Given the description of an element on the screen output the (x, y) to click on. 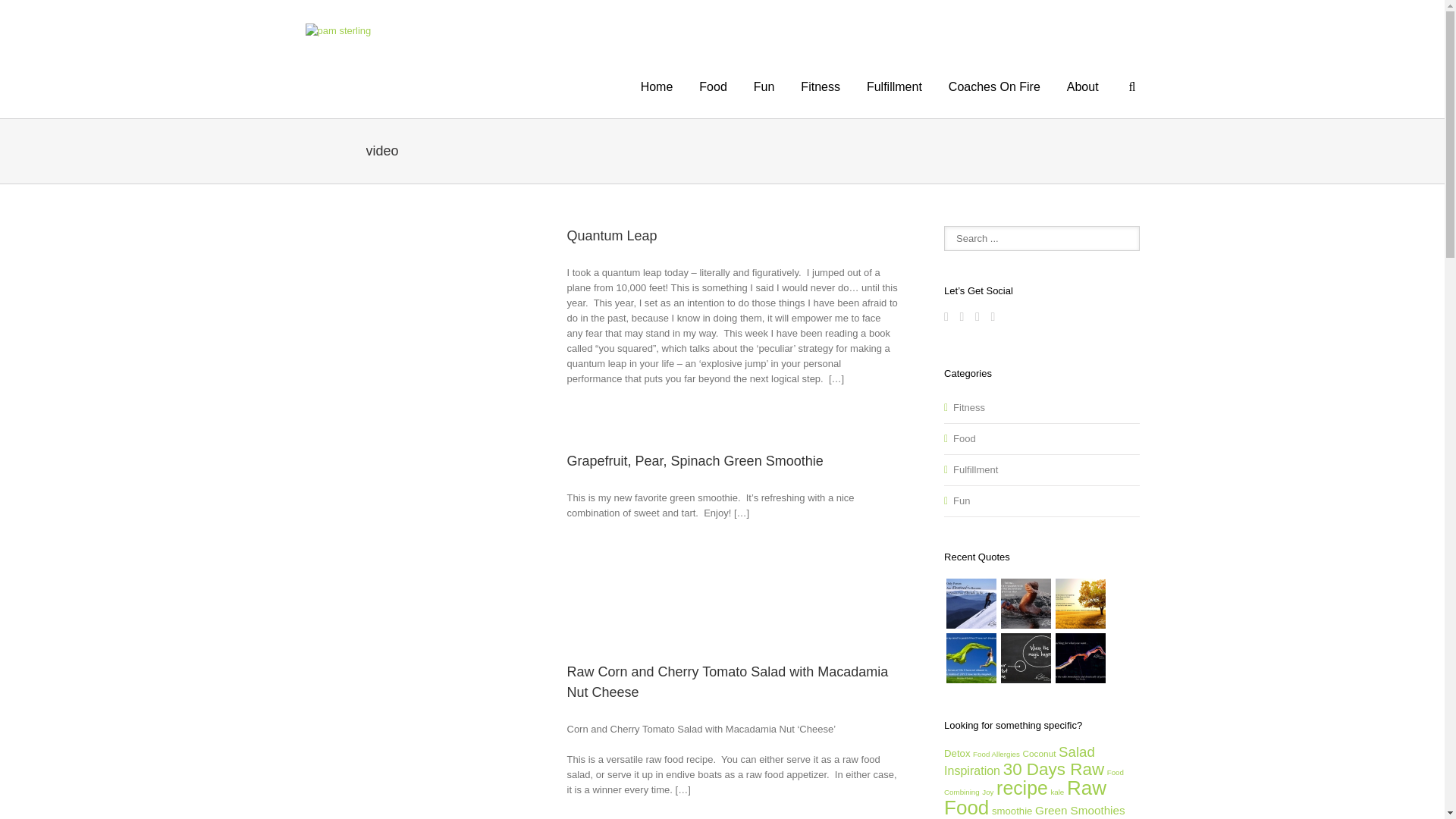
Quantum Leap (612, 235)
Your comfort zone. Where the magic happens. (1025, 657)
Grapefruit, Pear, Spinach Green Smoothie (695, 460)
Coaches On Fire (995, 85)
Raw Corn and Cherry Tomato Salad with Macadamia Nut Cheese (727, 682)
